Given the description of an element on the screen output the (x, y) to click on. 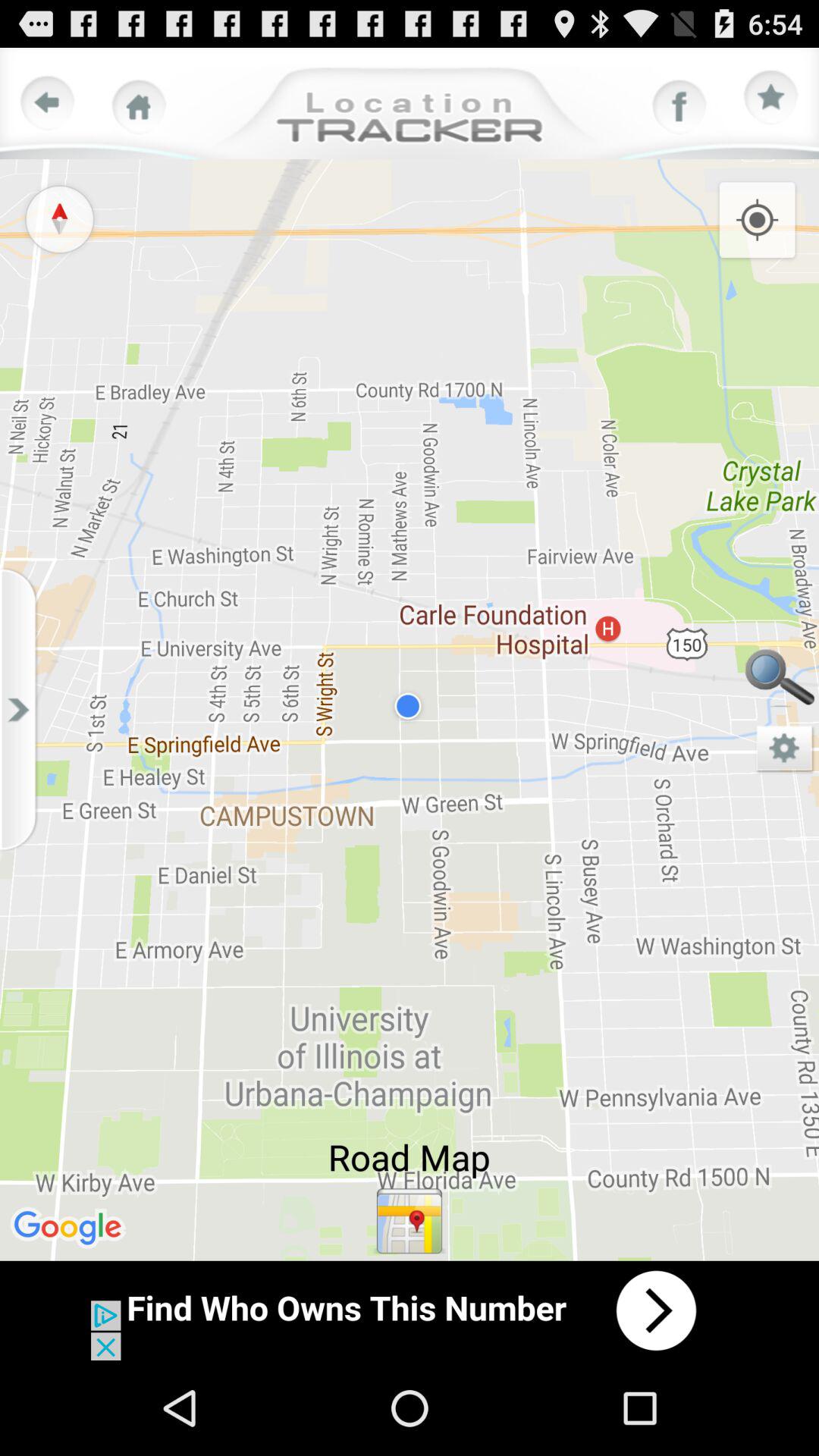
go back (47, 103)
